Given the description of an element on the screen output the (x, y) to click on. 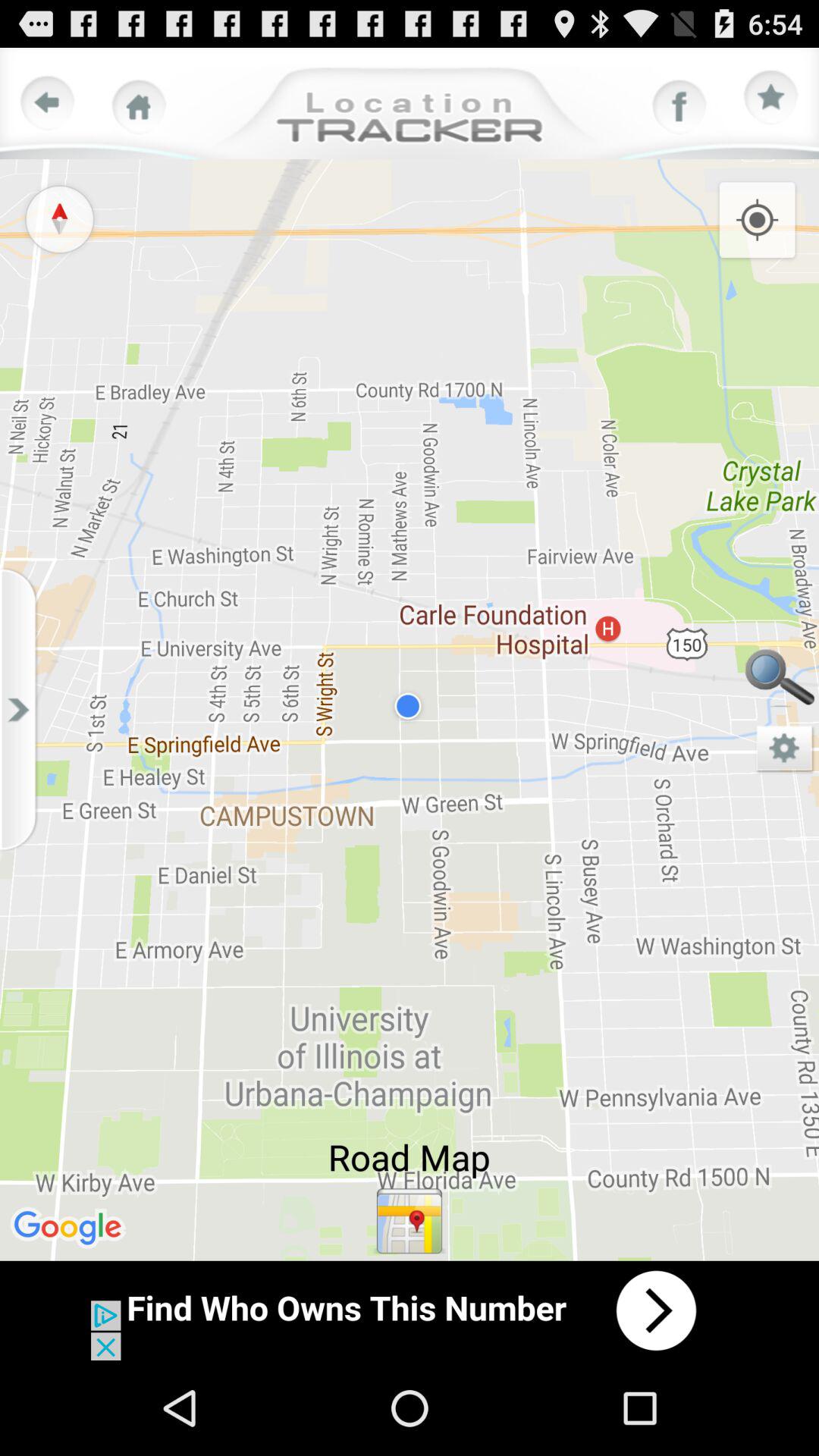
go back (47, 103)
